Given the description of an element on the screen output the (x, y) to click on. 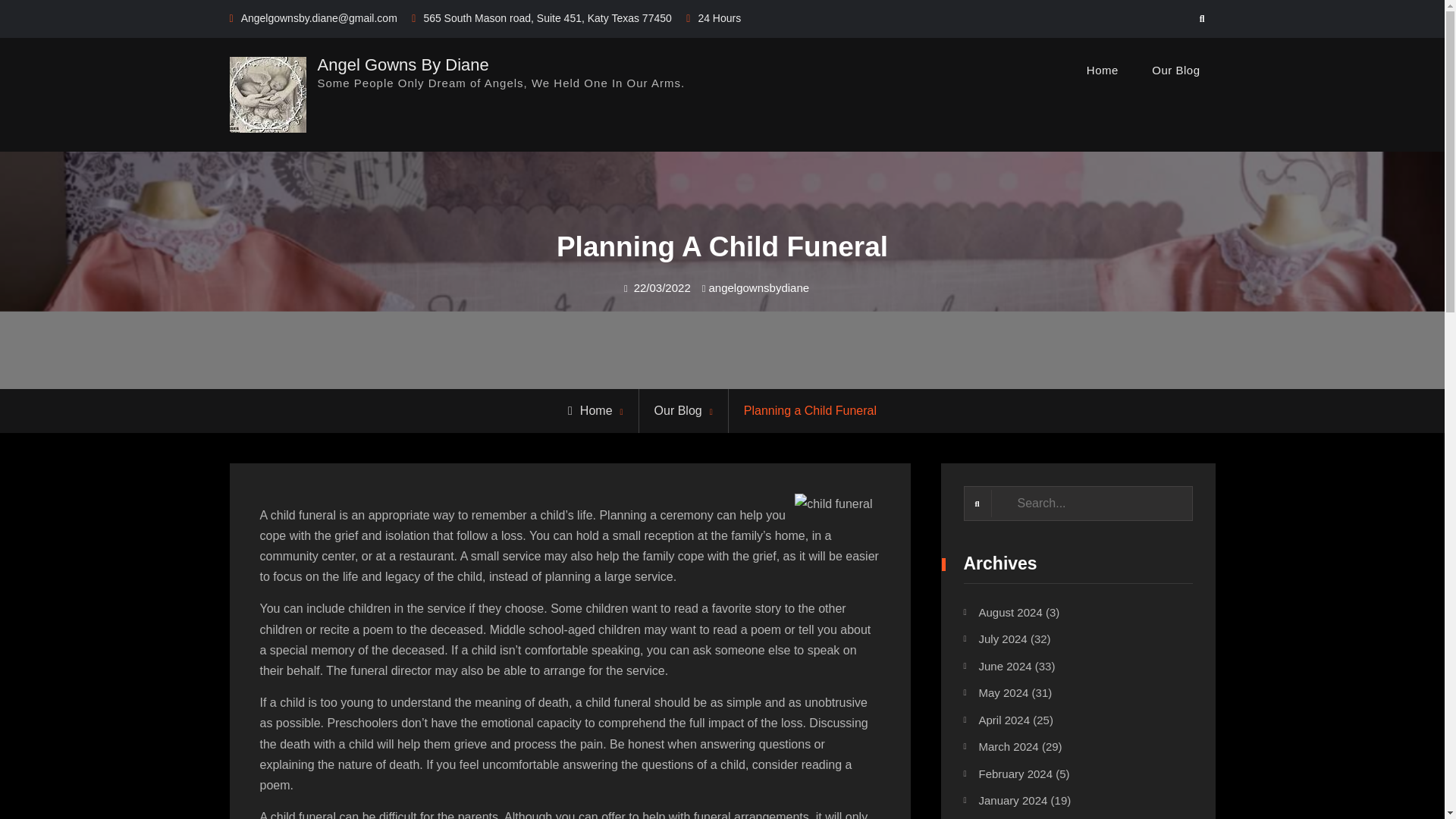
June 2024 (1004, 666)
January 2024 (1012, 799)
Our Blog (1175, 69)
Home (589, 410)
Our Blog (677, 410)
Home (1102, 69)
Angel Gowns By Diane (402, 63)
February 2024 (1015, 773)
July 2024 (1002, 638)
angelgownsbydiane (758, 287)
March 2024 (1008, 746)
August 2024 (1010, 612)
Search (1202, 18)
April 2024 (1003, 719)
May 2024 (1002, 692)
